Given the description of an element on the screen output the (x, y) to click on. 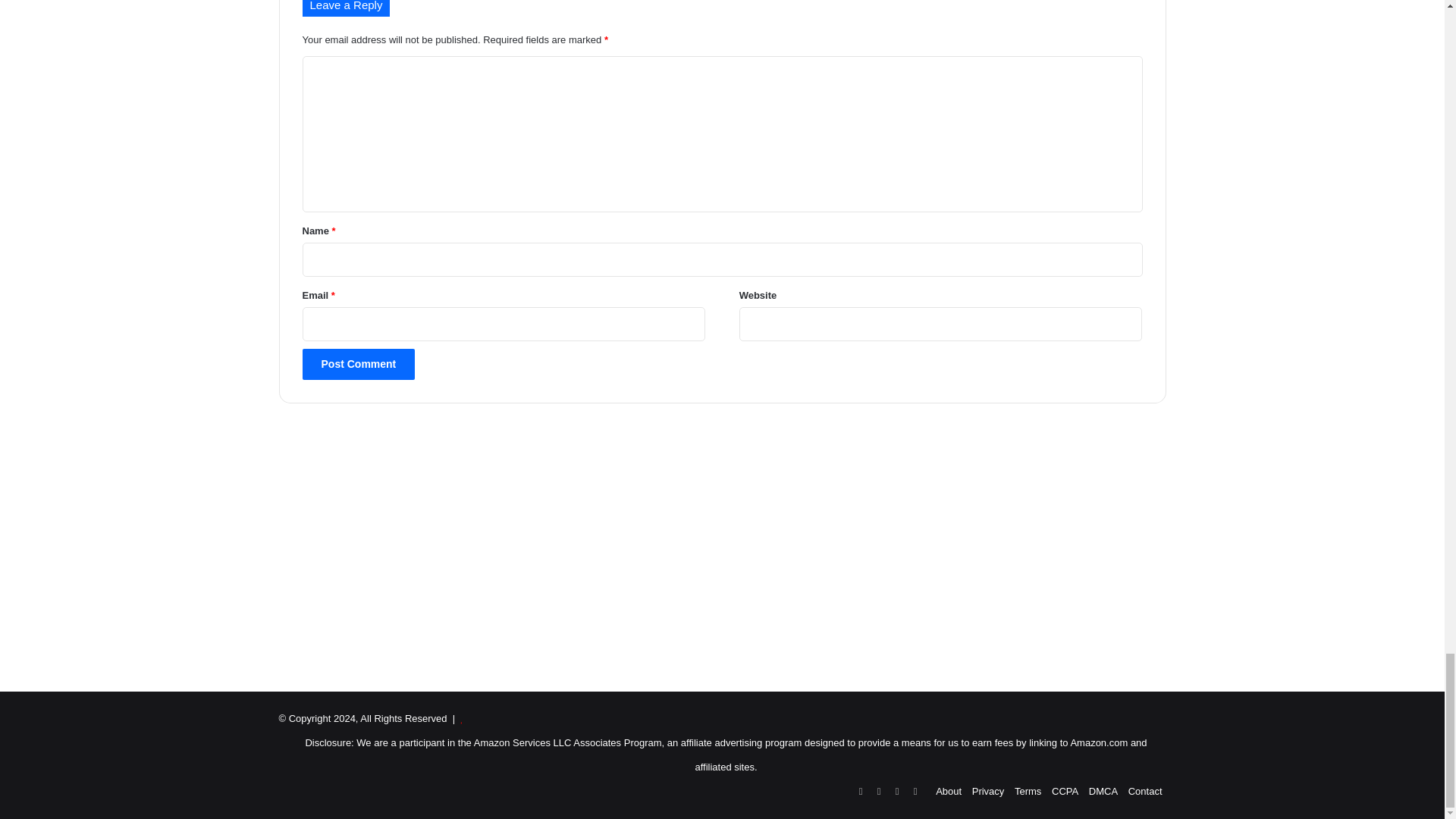
Post Comment (357, 364)
